Given the description of an element on the screen output the (x, y) to click on. 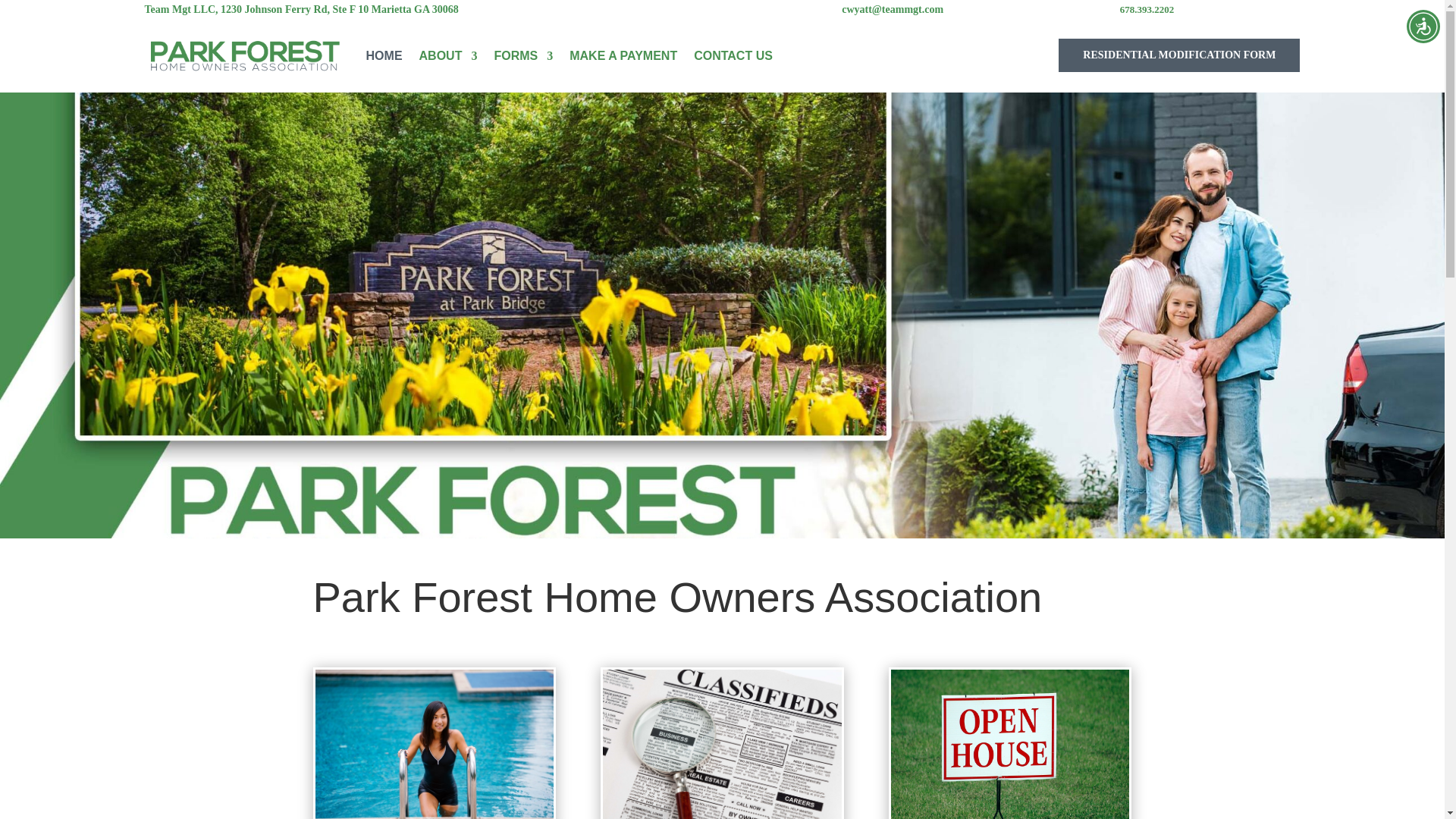
MAKE A PAYMENT (623, 56)
Accessibility Menu (1422, 26)
ABOUT (448, 56)
FORMS (523, 56)
CONTACT US (733, 56)
